Given the description of an element on the screen output the (x, y) to click on. 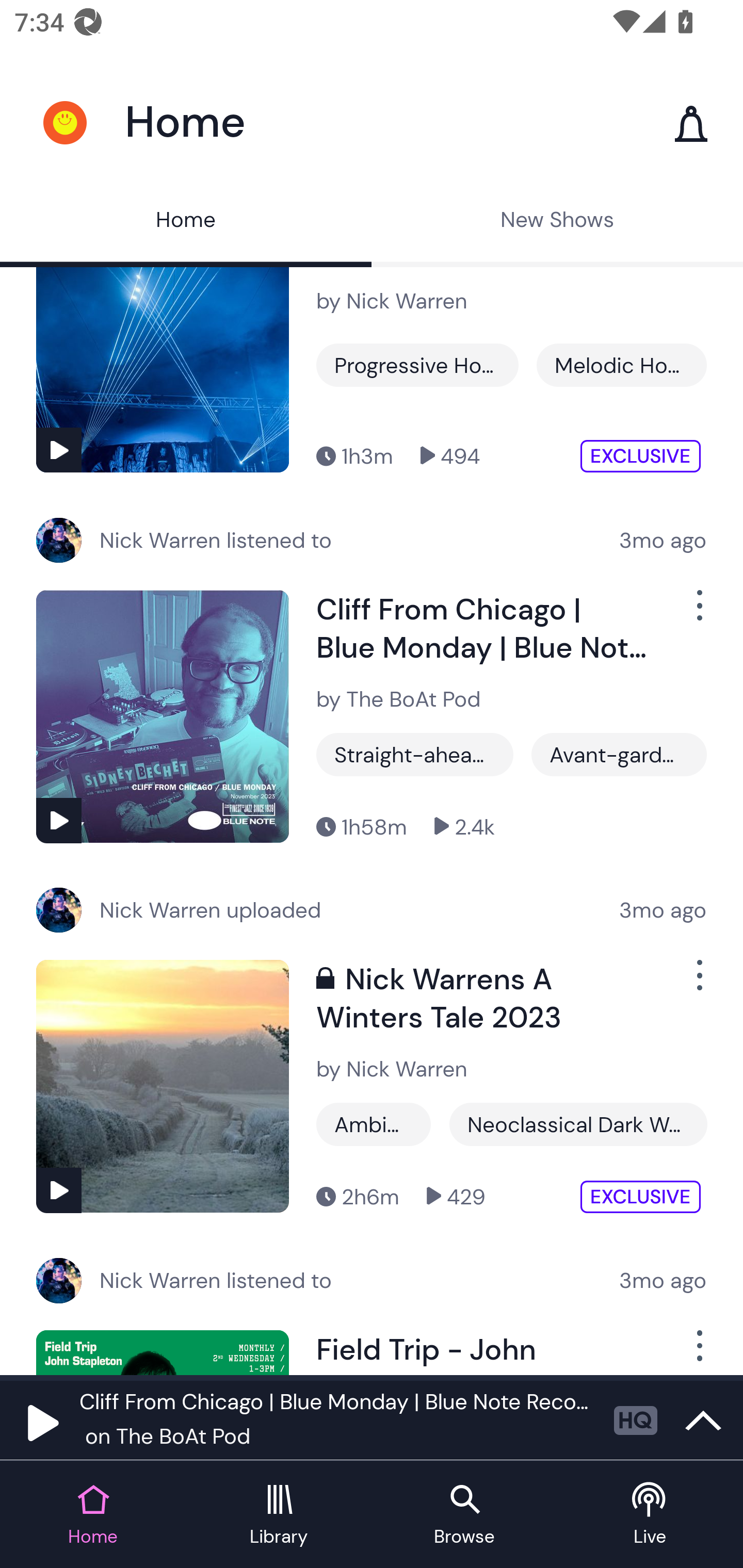
Home (185, 221)
New Shows (557, 221)
Progressive House (417, 365)
Melodic House (621, 365)
Show Options Menu Button (697, 612)
Straight-ahead Jazz (414, 754)
Avant-garde Jazz (618, 754)
Show Options Menu Button (697, 982)
Ambient (373, 1124)
Neoclassical Dark Wave (577, 1124)
Show Options Menu Button (697, 1352)
Home tab Home (92, 1515)
Library tab Library (278, 1515)
Browse tab Browse (464, 1515)
Live tab Live (650, 1515)
